Given the description of an element on the screen output the (x, y) to click on. 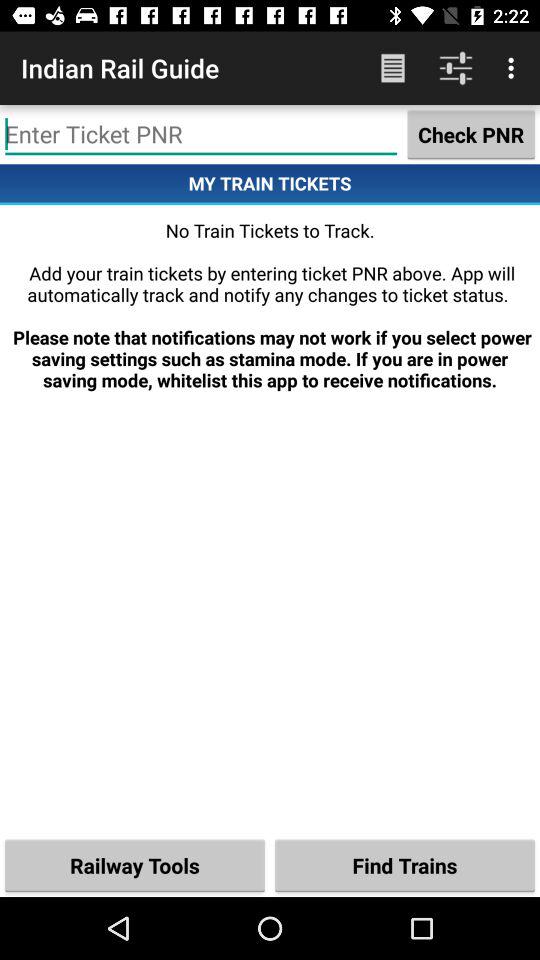
scroll to find trains (405, 864)
